Given the description of an element on the screen output the (x, y) to click on. 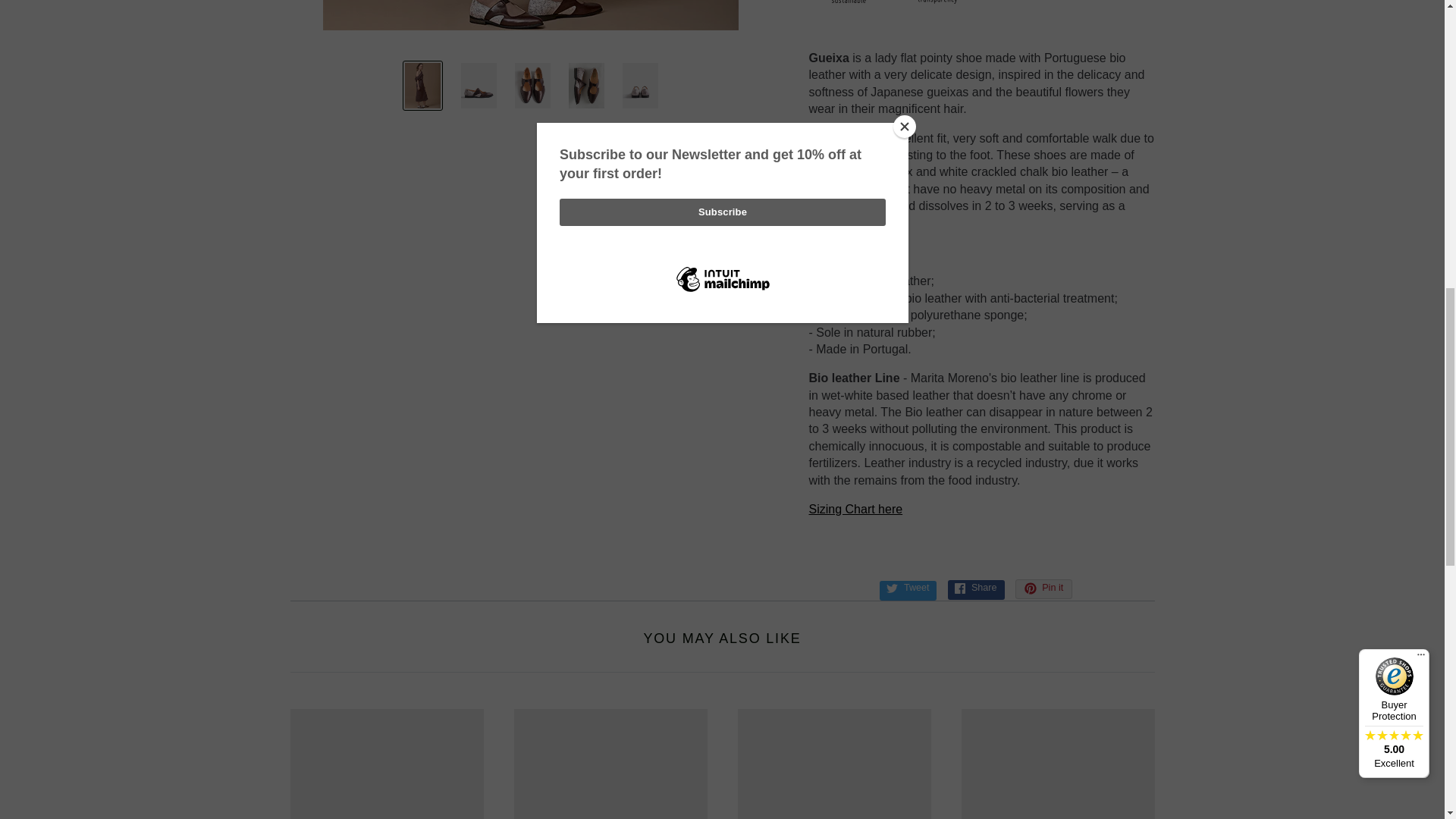
Sizing Chart (855, 508)
Transparency (937, 2)
Sustainable (848, 1)
